Given the description of an element on the screen output the (x, y) to click on. 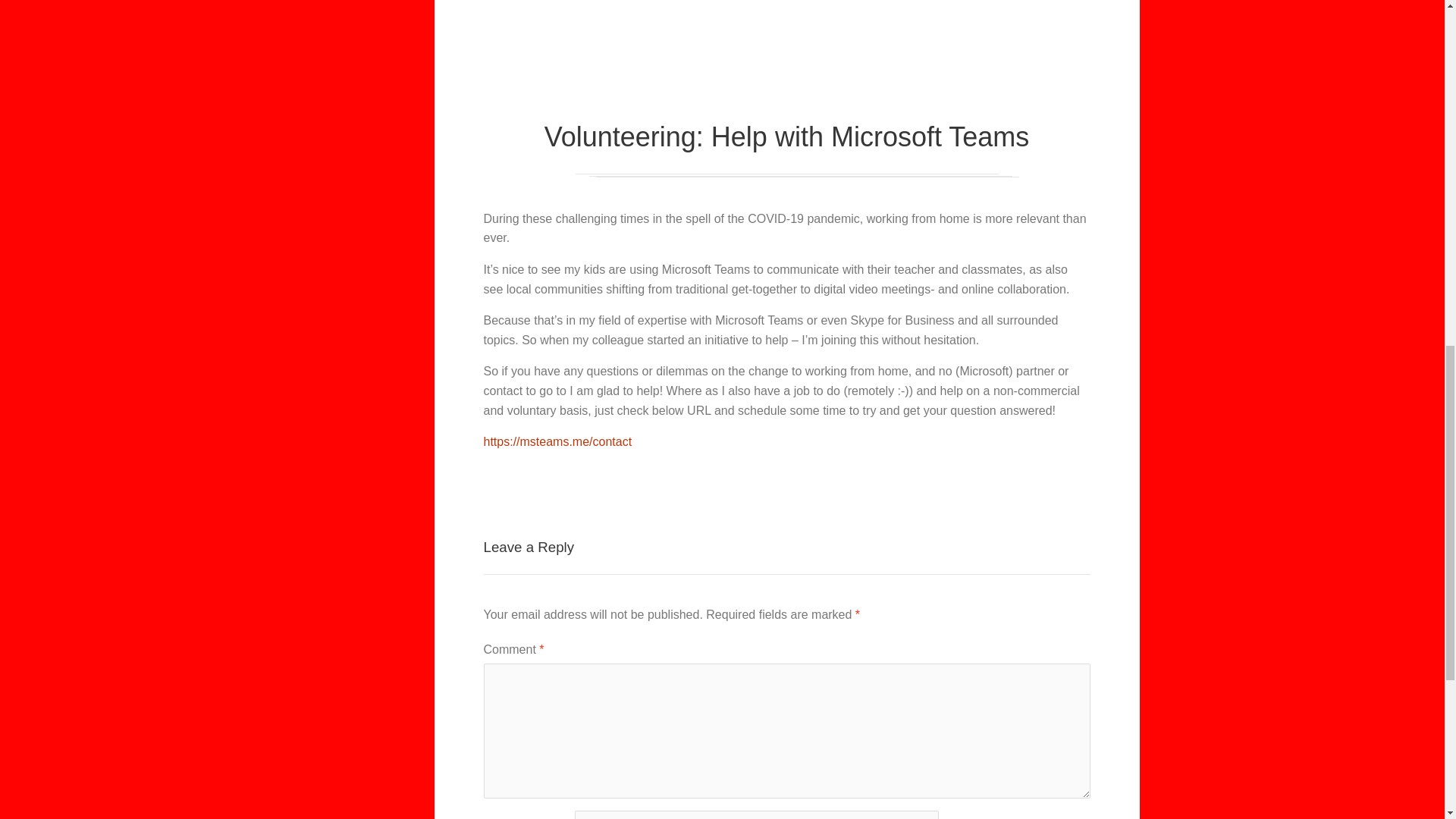
Volunteering: Help with Microsoft Teams (785, 120)
